Given the description of an element on the screen output the (x, y) to click on. 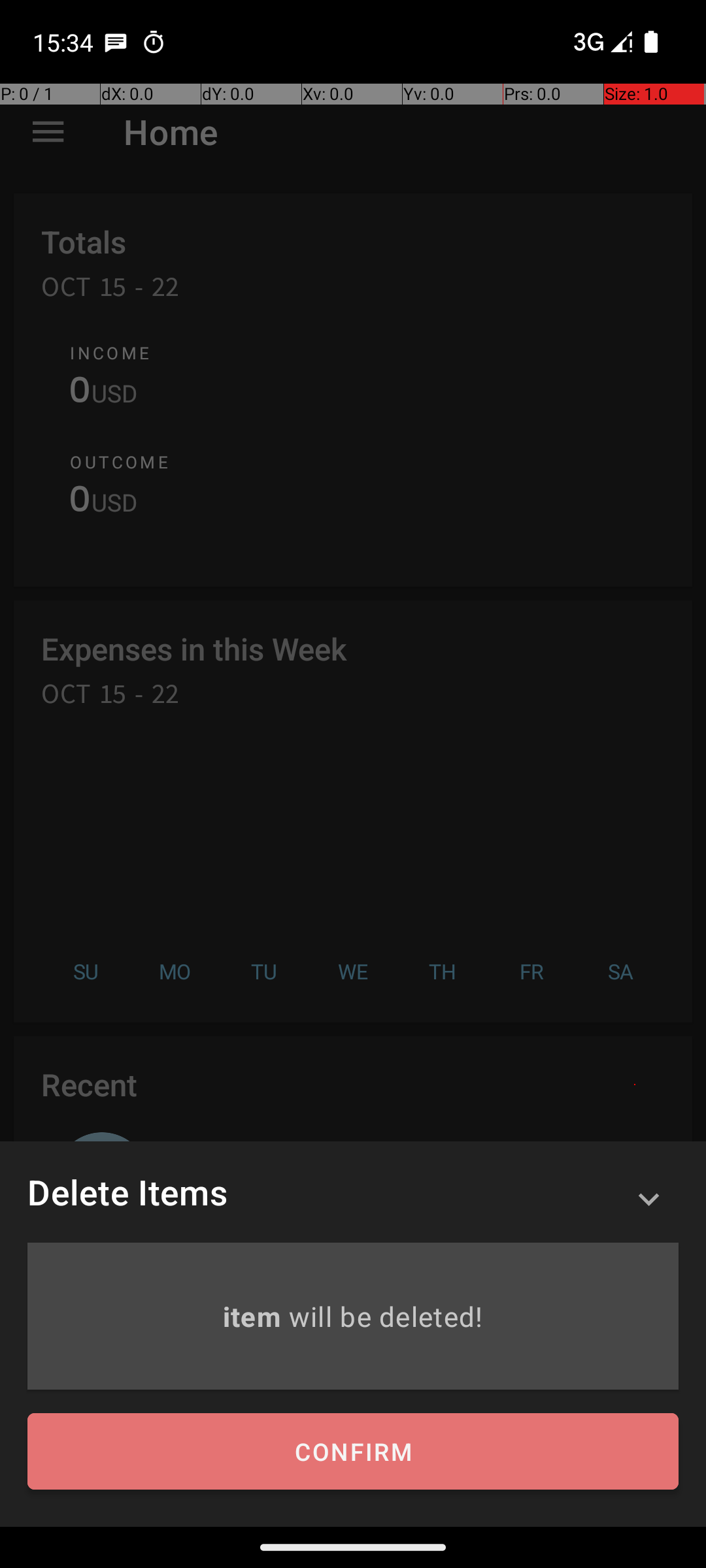
SMS Messenger notification: Sophie Gonzalez Element type: android.widget.ImageView (115, 41)
